Given the description of an element on the screen output the (x, y) to click on. 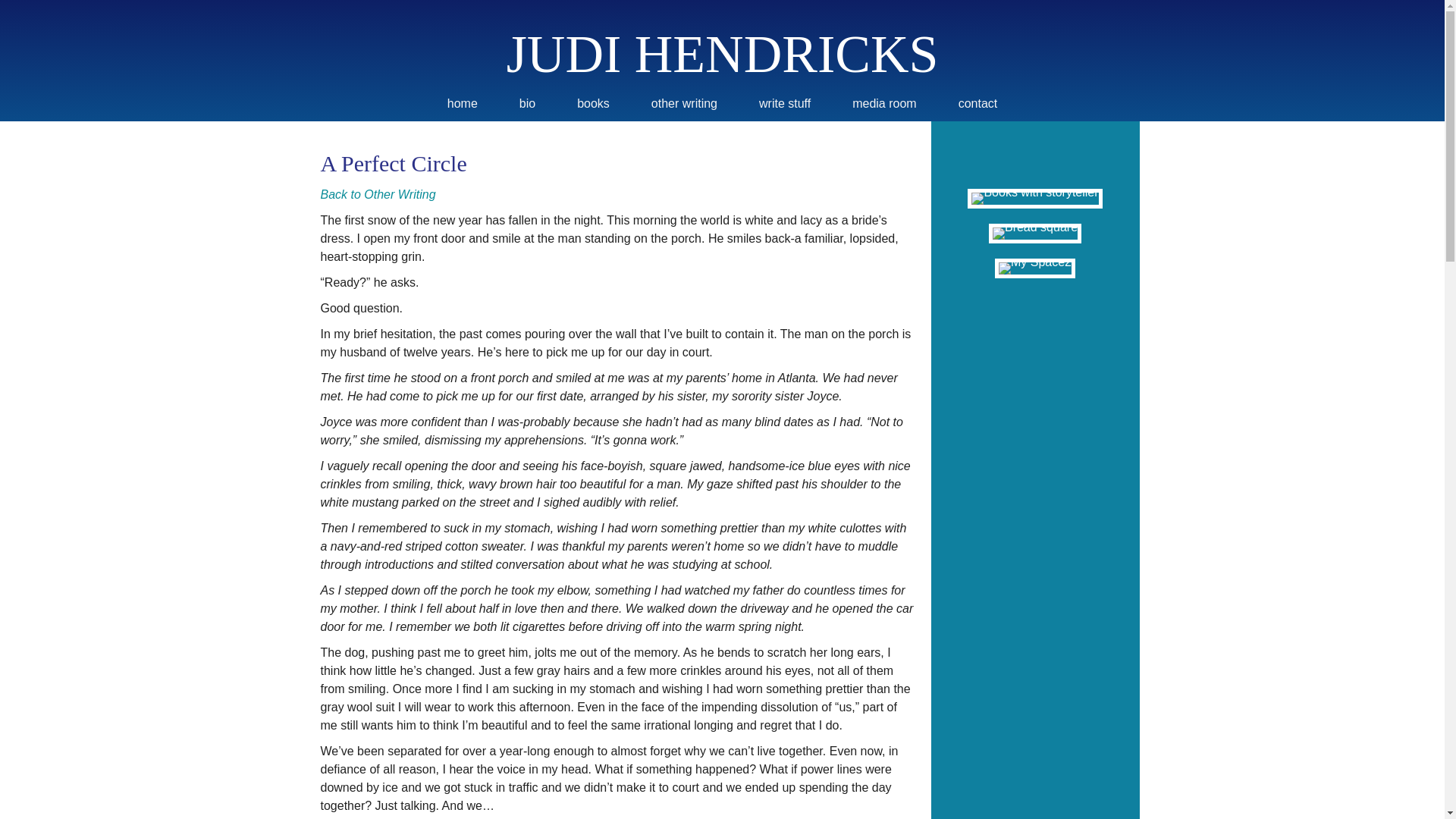
Bread square (1034, 233)
contact (978, 103)
books (593, 103)
bio (526, 103)
My Space2 (1034, 268)
JUDI HENDRICKS (722, 54)
media room (884, 103)
Books with storyteller (1034, 198)
Judi Hendricks (722, 54)
home (462, 103)
other writing (684, 103)
write stuff (784, 103)
Back to Other Writing (377, 194)
